Given the description of an element on the screen output the (x, y) to click on. 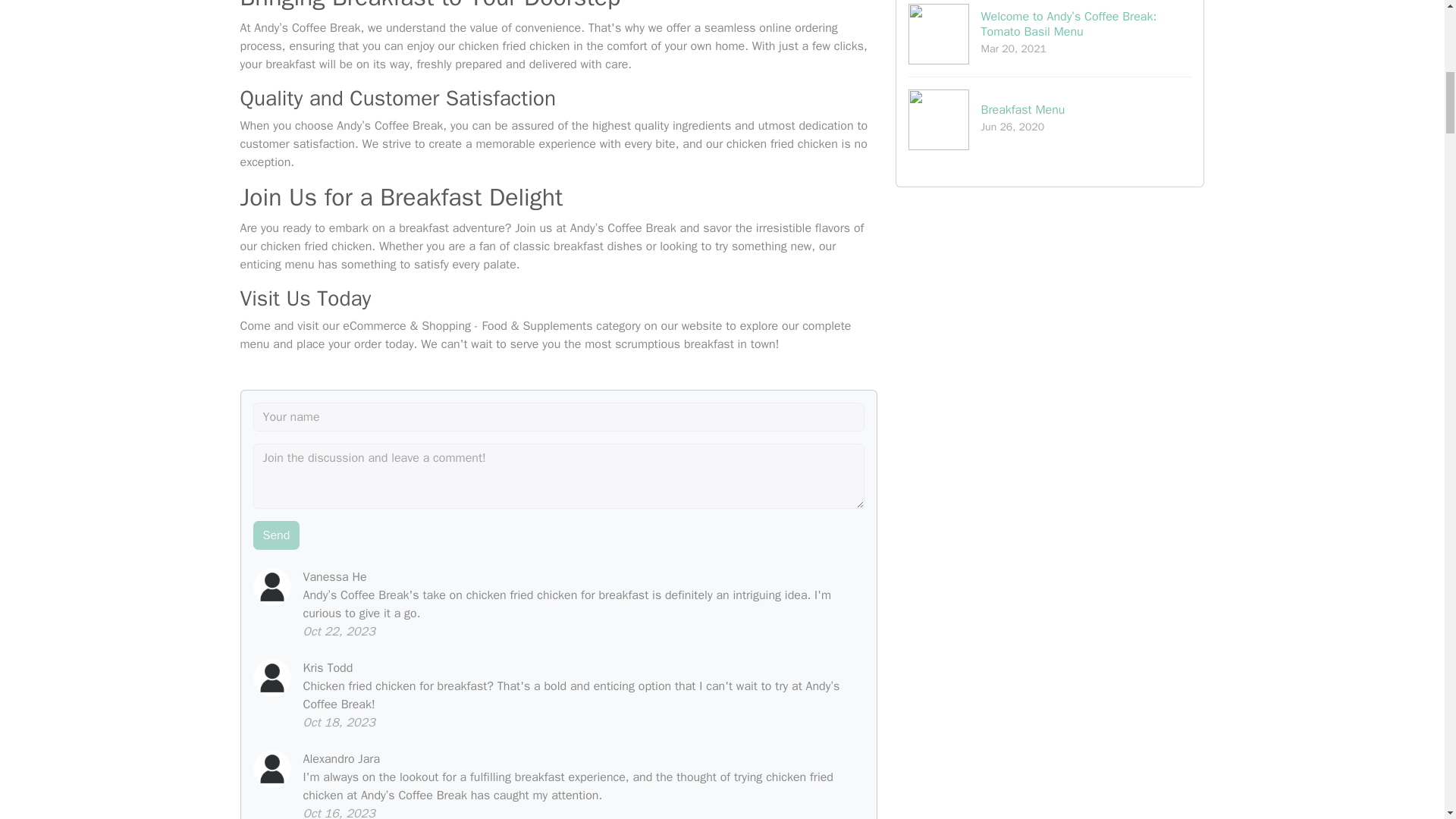
Send (1050, 119)
Send (276, 534)
